Given the description of an element on the screen output the (x, y) to click on. 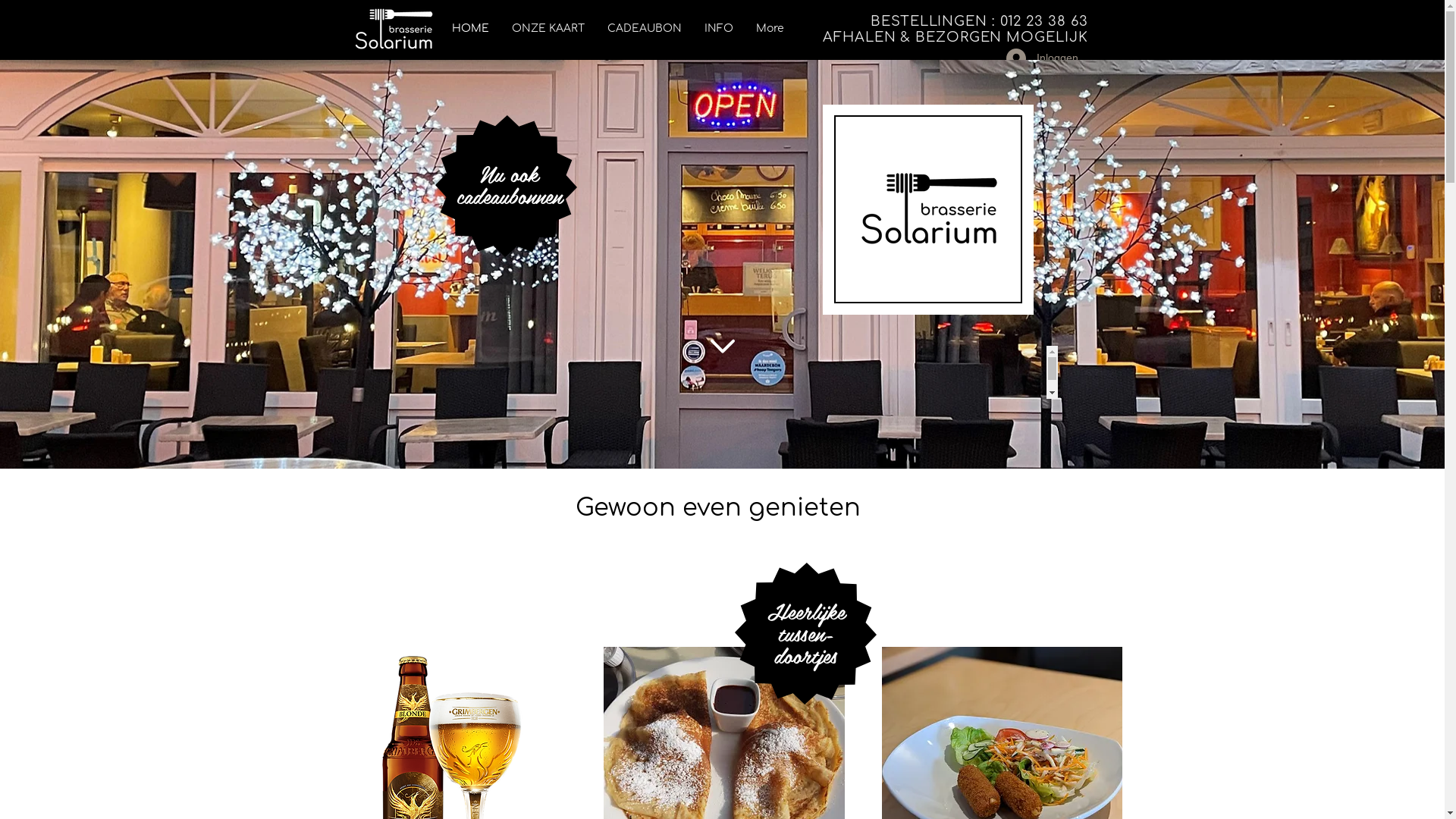
Nu ook cadeaubonnen Element type: text (508, 185)
Inloggen Element type: text (1039, 57)
ONZE KAART Element type: text (548, 28)
CADEAUBON Element type: text (644, 28)
INFO Element type: text (718, 28)
HOME Element type: text (469, 28)
Embedded Content Element type: hover (930, 221)
